Given the description of an element on the screen output the (x, y) to click on. 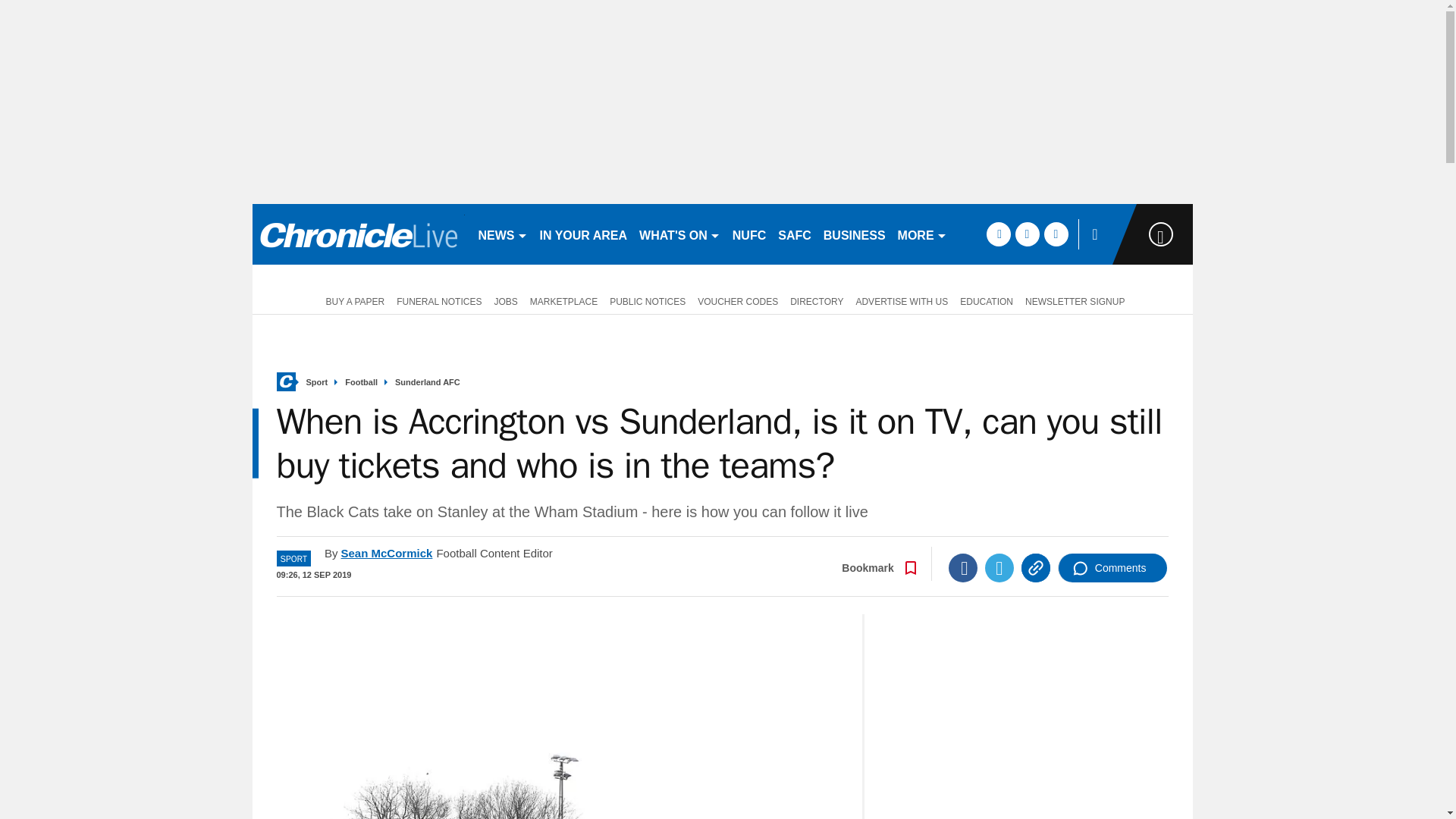
Twitter (999, 567)
BUSINESS (853, 233)
facebook (997, 233)
NEWS (501, 233)
nechronicle (357, 233)
MORE (922, 233)
Comments (1112, 567)
WHAT'S ON (679, 233)
IN YOUR AREA (583, 233)
Facebook (962, 567)
